Given the description of an element on the screen output the (x, y) to click on. 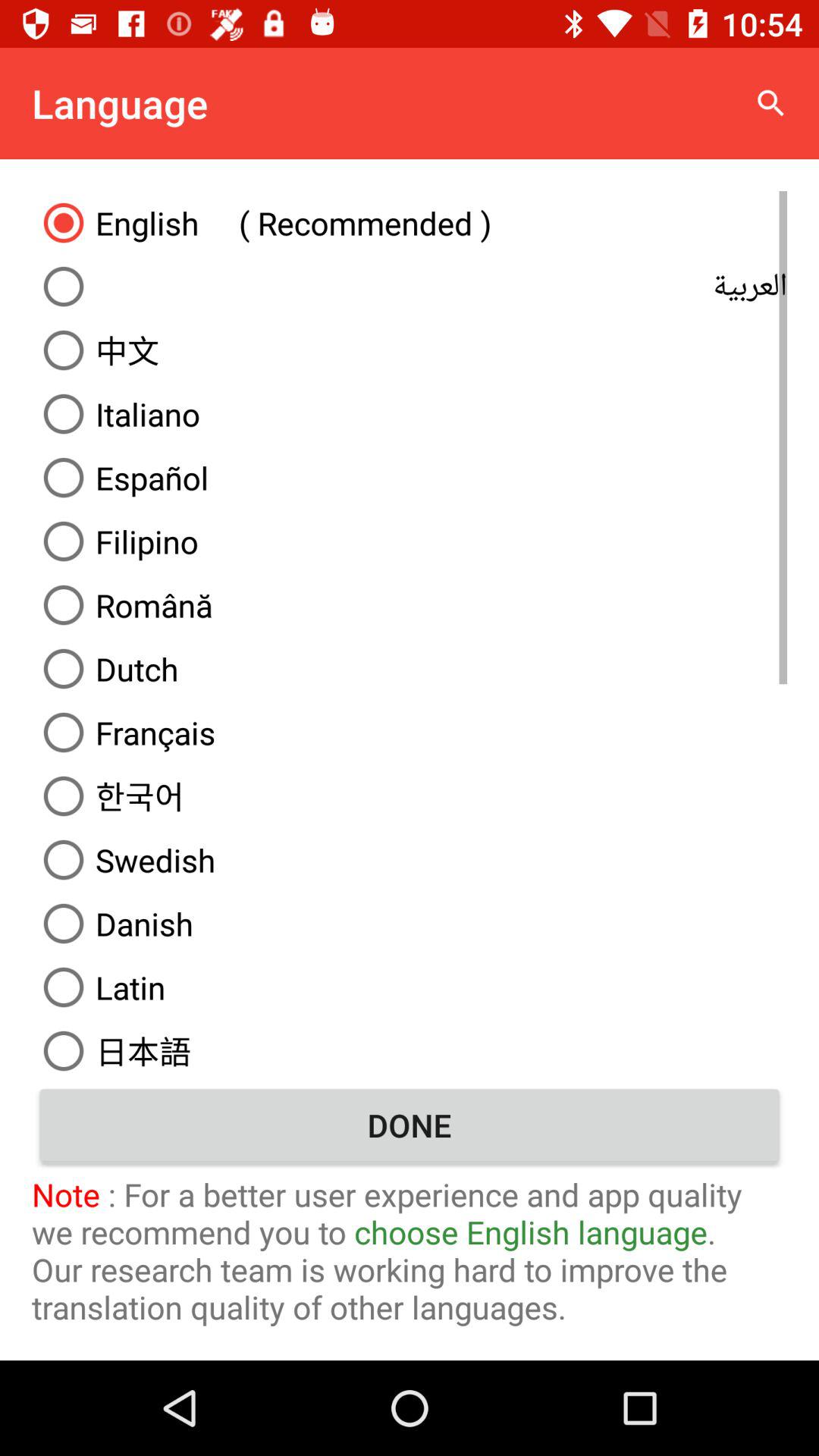
launch the icon below english     ( recommended ) (409, 286)
